Given the description of an element on the screen output the (x, y) to click on. 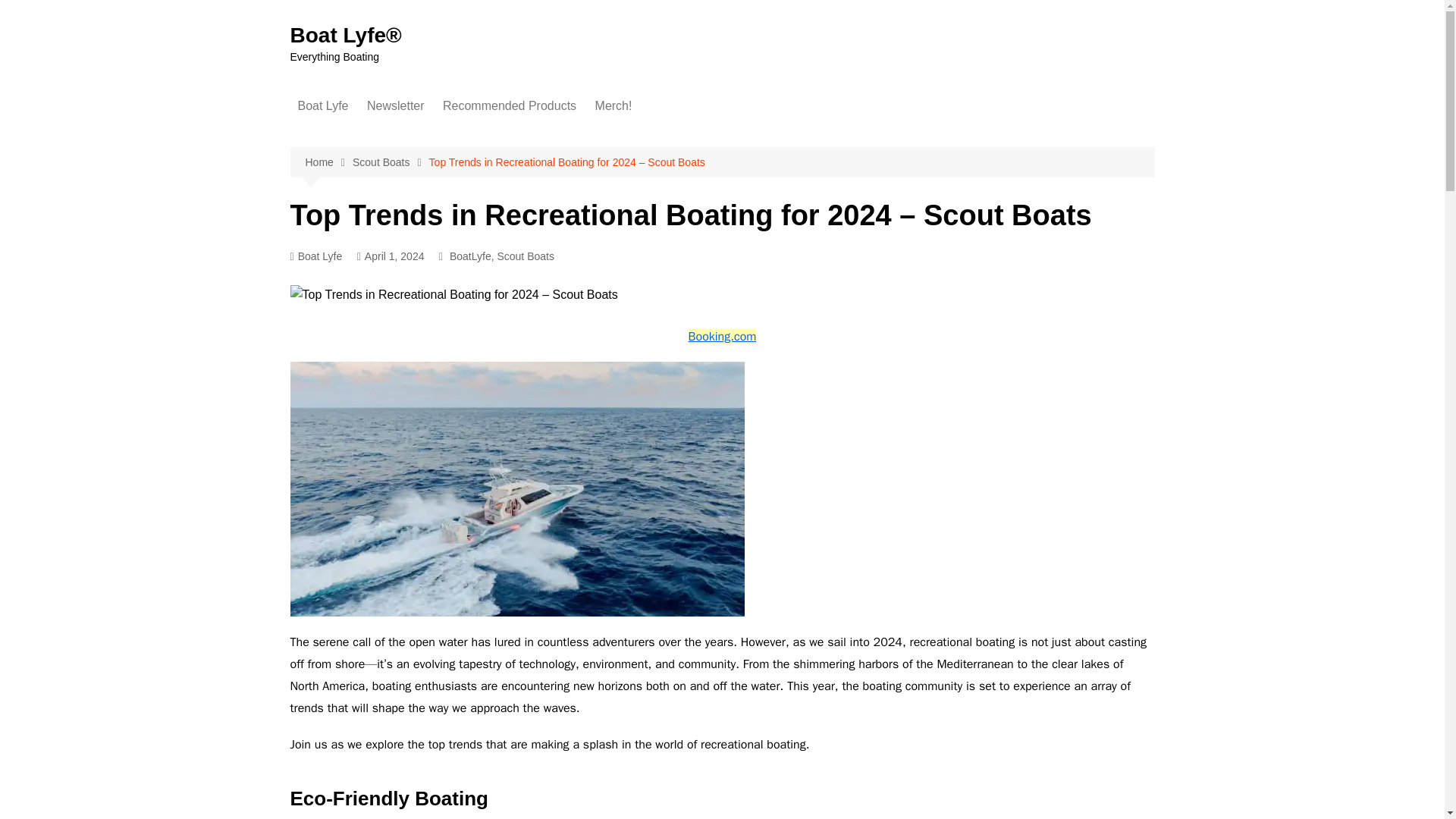
April 1, 2024 (390, 256)
Newsletter (395, 105)
Home (328, 162)
Merch! (614, 105)
Scout Boats (390, 162)
Scout Boats (525, 256)
Booking.com (722, 336)
Boat Lyfe (315, 256)
BoatLyfe (470, 256)
Boat Lyfe (322, 105)
Recommended Products (509, 105)
